Given the description of an element on the screen output the (x, y) to click on. 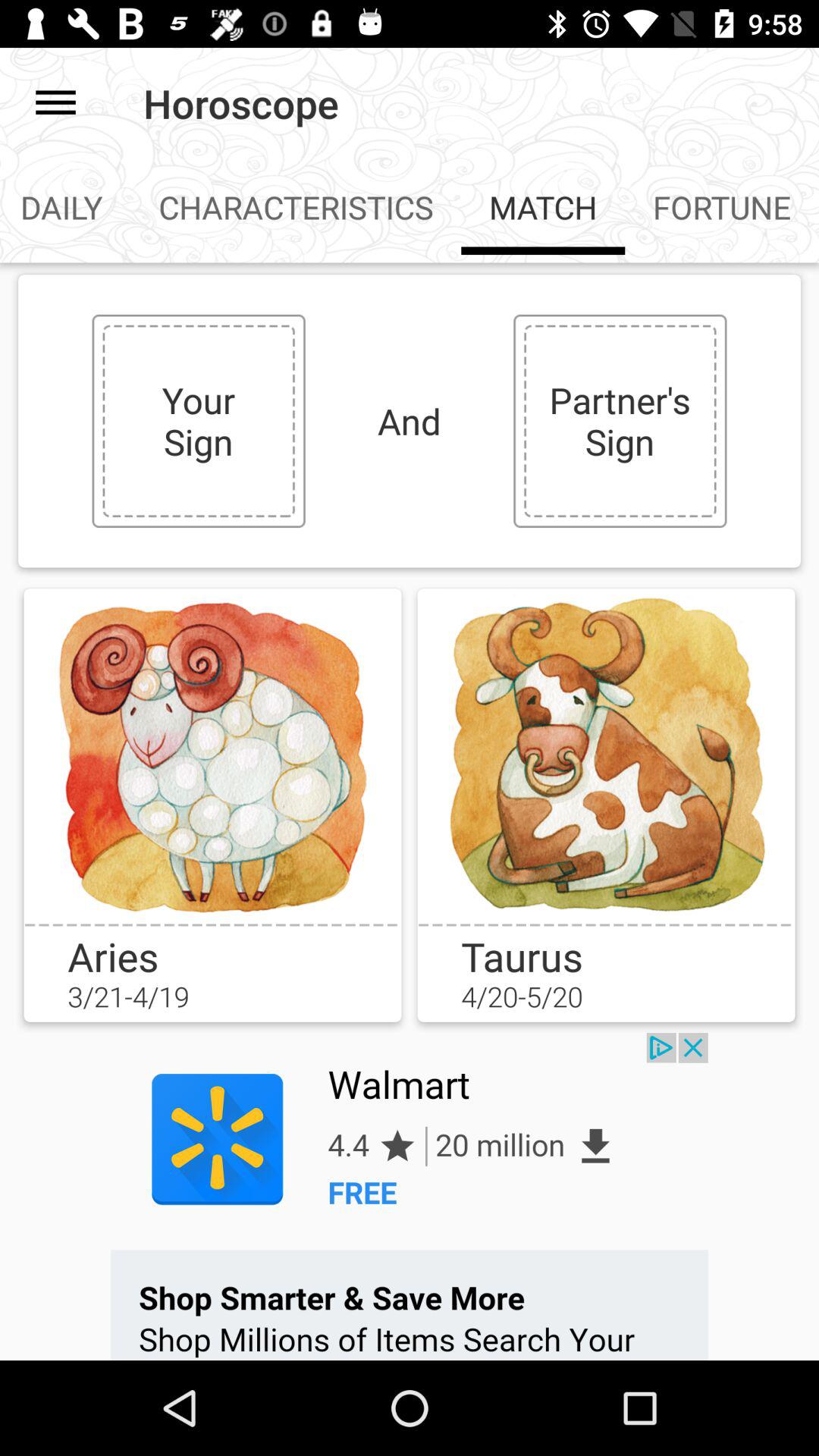
select the add (409, 1196)
